Given the description of an element on the screen output the (x, y) to click on. 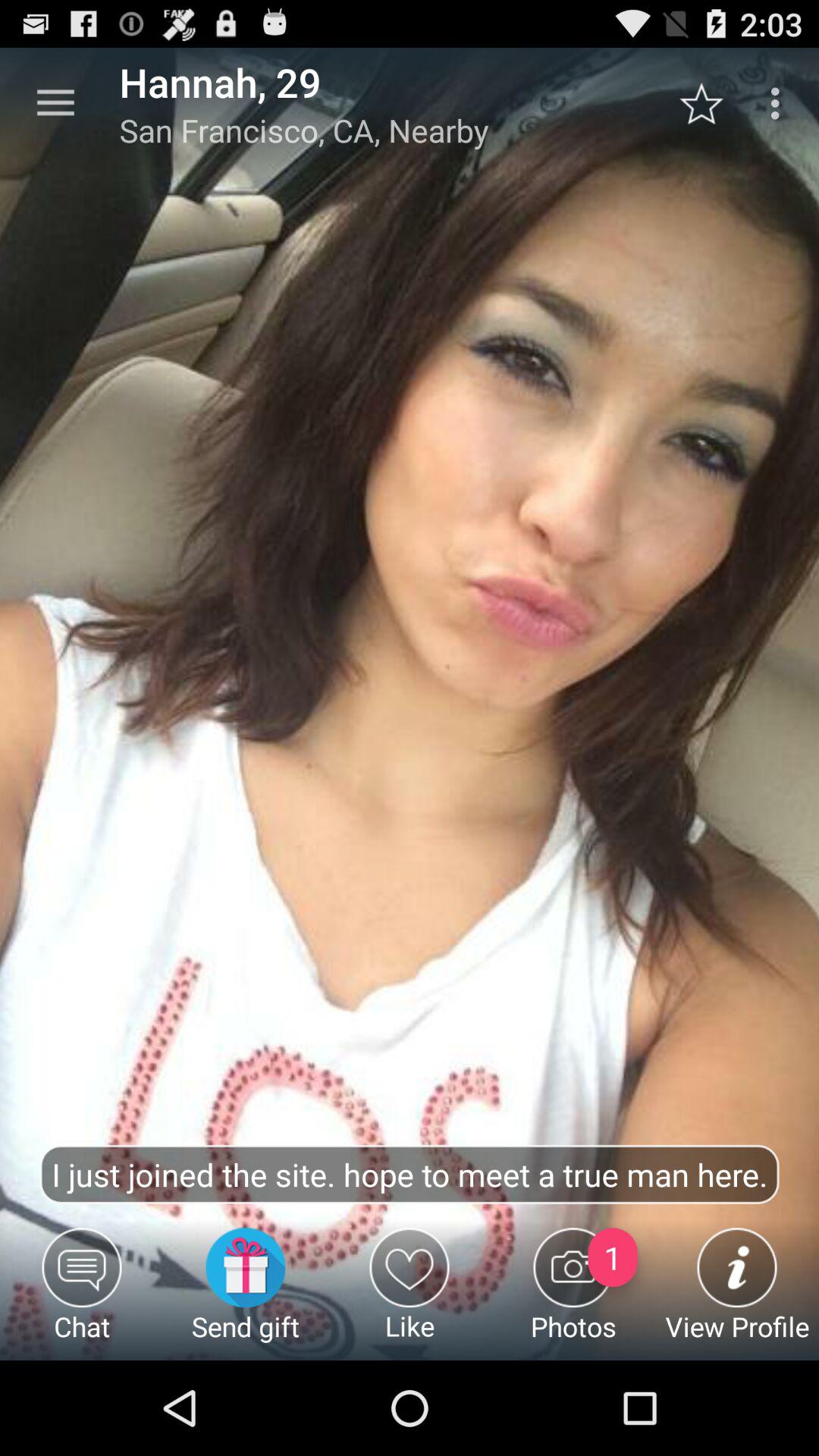
turn on the icon to the right of the san francisco ca item (709, 103)
